Given the description of an element on the screen output the (x, y) to click on. 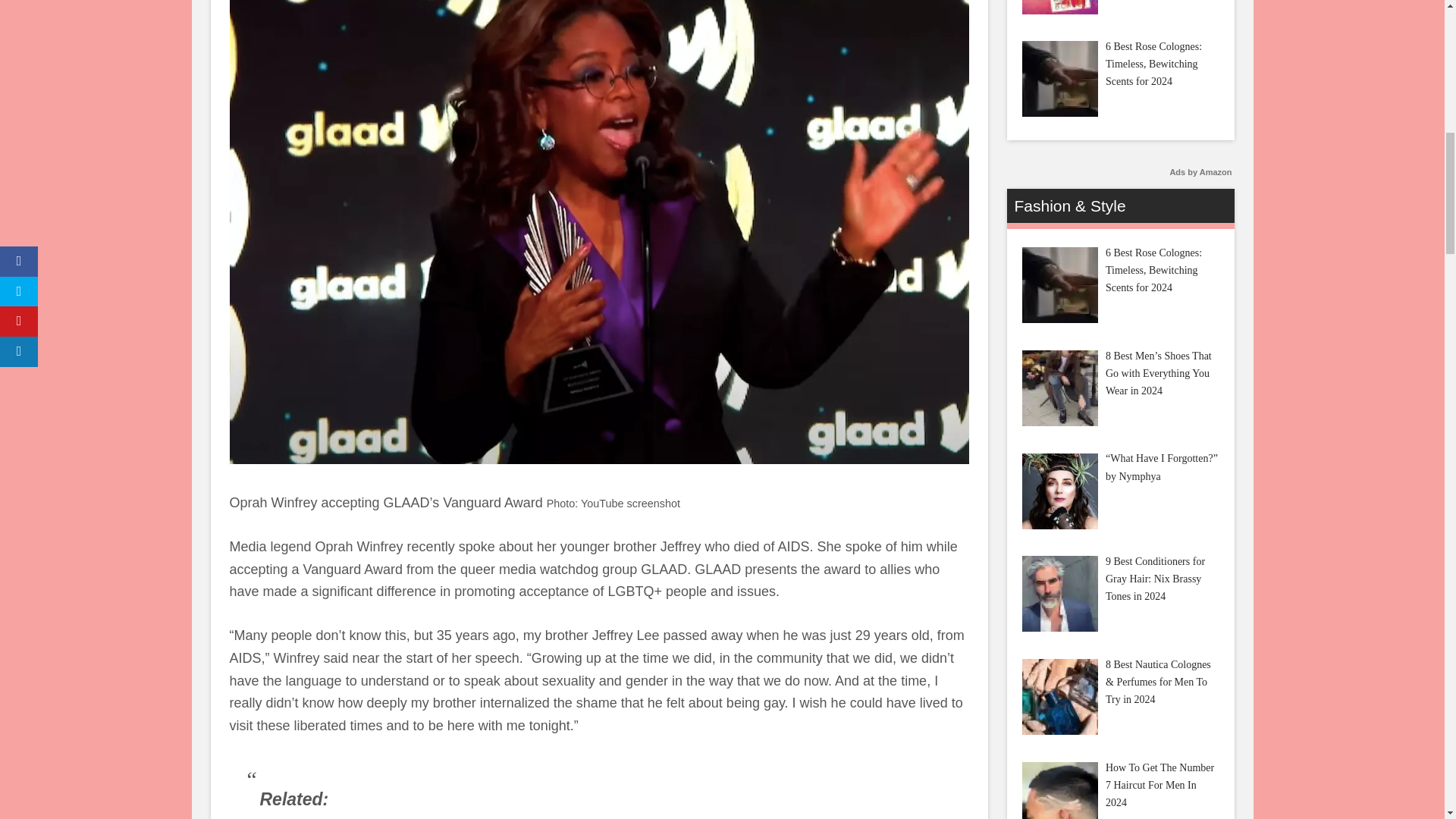
The 9 Best Books of the Summer, According to Bookshop.org (1059, 7)
6 Best Rose Colognes: Timeless, Bewitching Scents for 2024 (1059, 78)
9 Best Conditioners for Gray Hair: Nix Brassy Tones in 2024 (1059, 593)
6 Best Rose Colognes: Timeless, Bewitching Scents for 2024 (1059, 284)
